Given the description of an element on the screen output the (x, y) to click on. 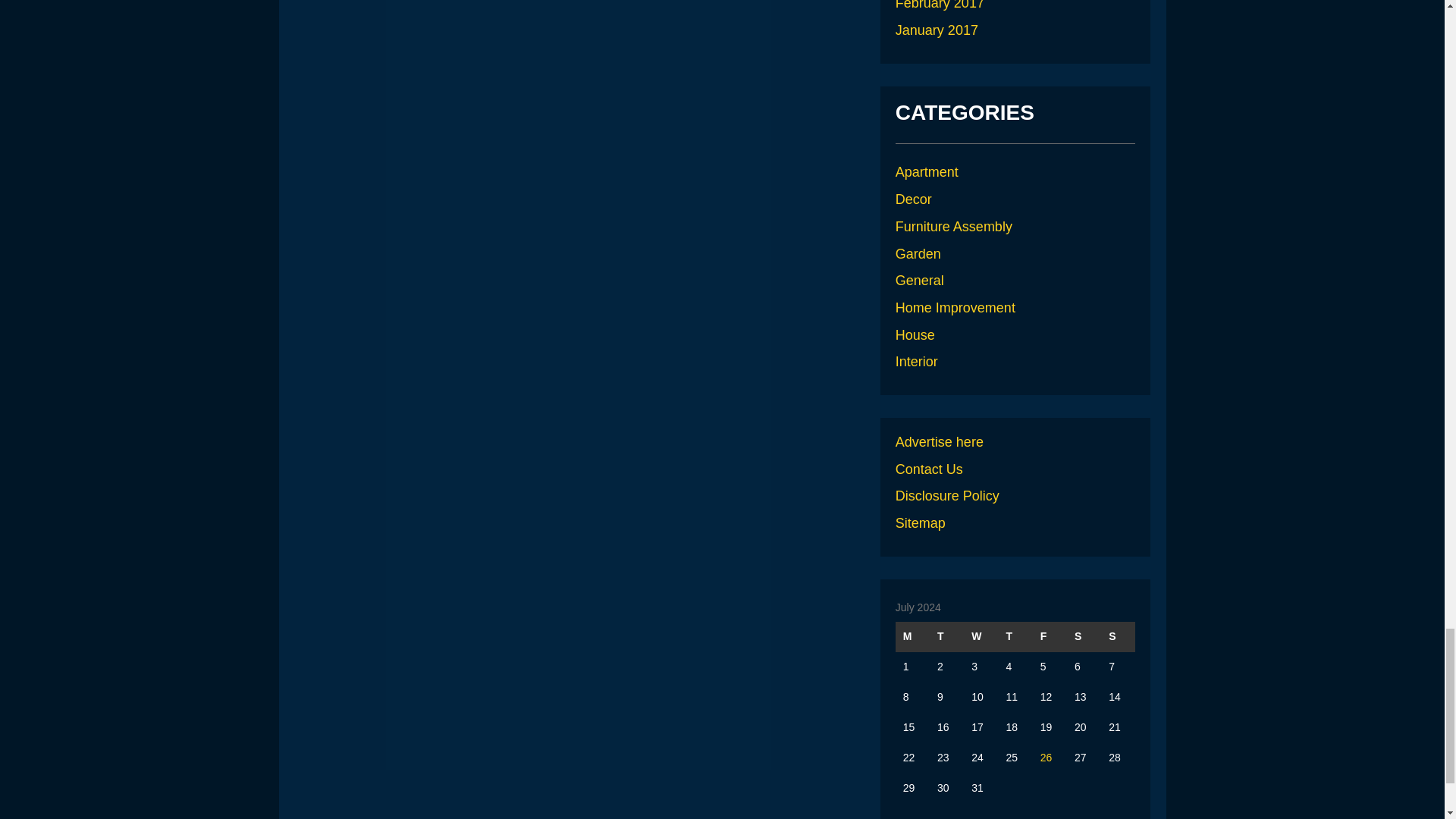
Wednesday (980, 636)
Sunday (1117, 636)
Monday (912, 636)
Thursday (1015, 636)
Friday (1049, 636)
Saturday (1083, 636)
Tuesday (946, 636)
